Given the description of an element on the screen output the (x, y) to click on. 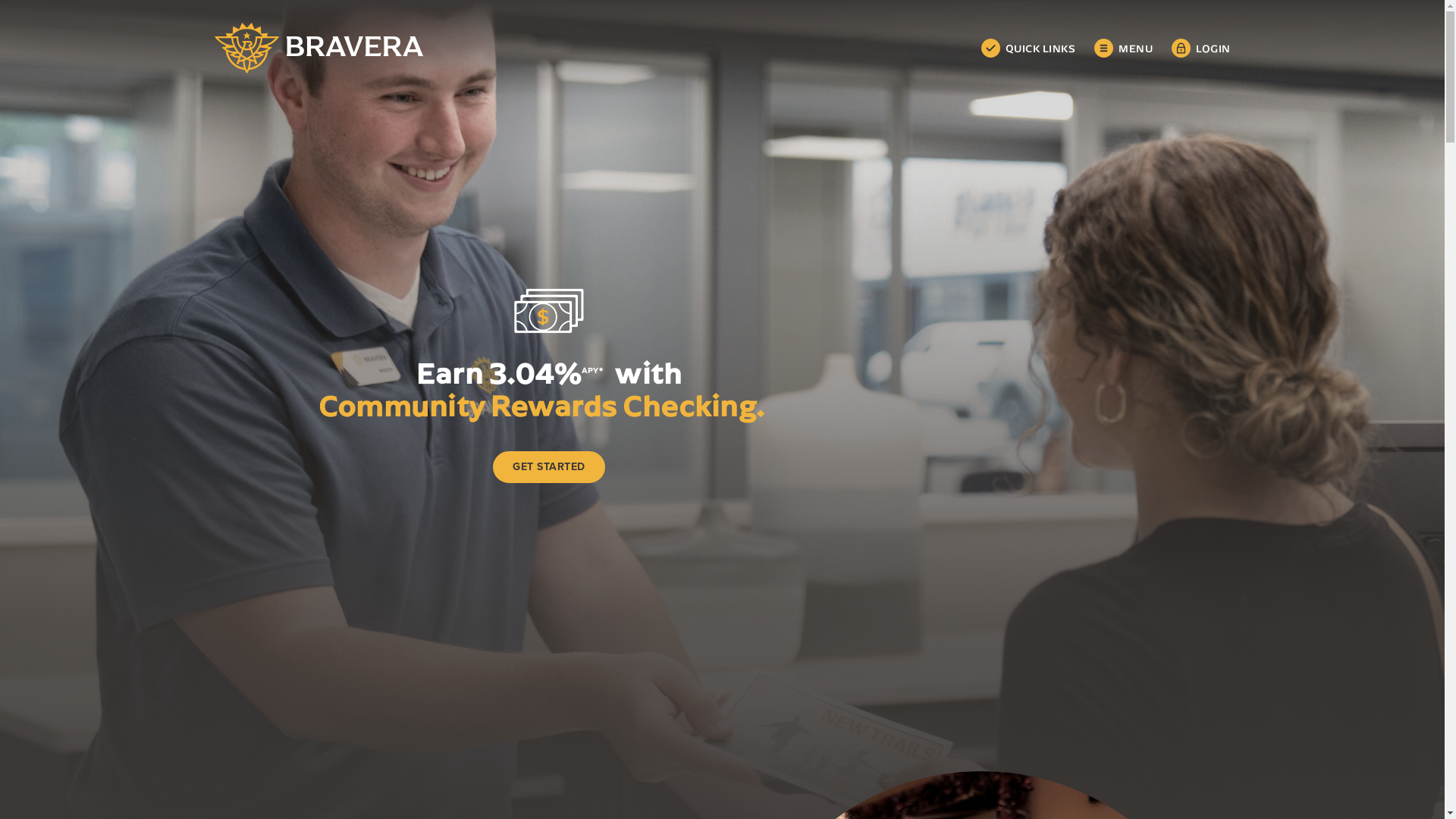
QUICK LINKS Element type: text (1028, 47)
MENU Element type: text (1123, 47)
Bravera Bank, Bismarck, ND Element type: hover (317, 47)
GET STARTED Element type: text (548, 466)
LOGIN Element type: text (1200, 47)
